Given the description of an element on the screen output the (x, y) to click on. 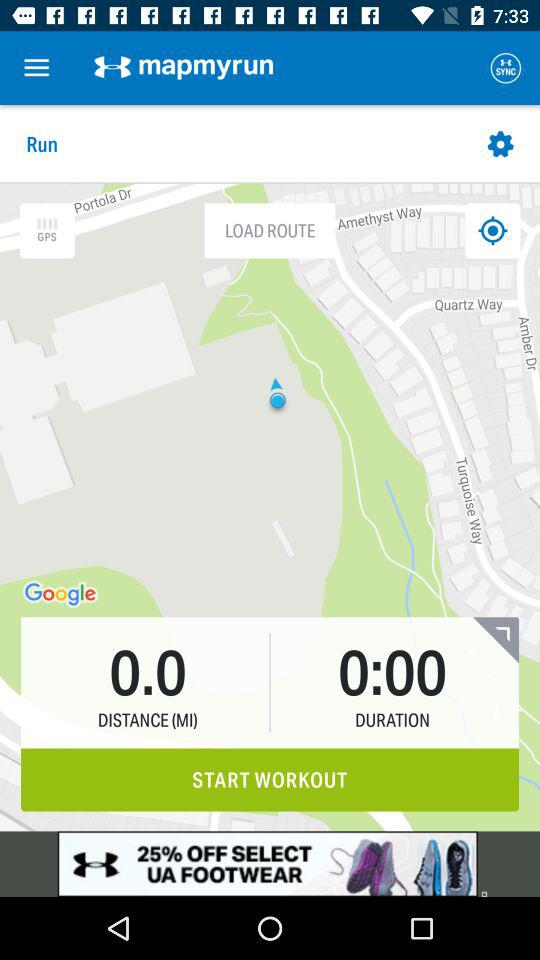
advertisement (270, 864)
